Given the description of an element on the screen output the (x, y) to click on. 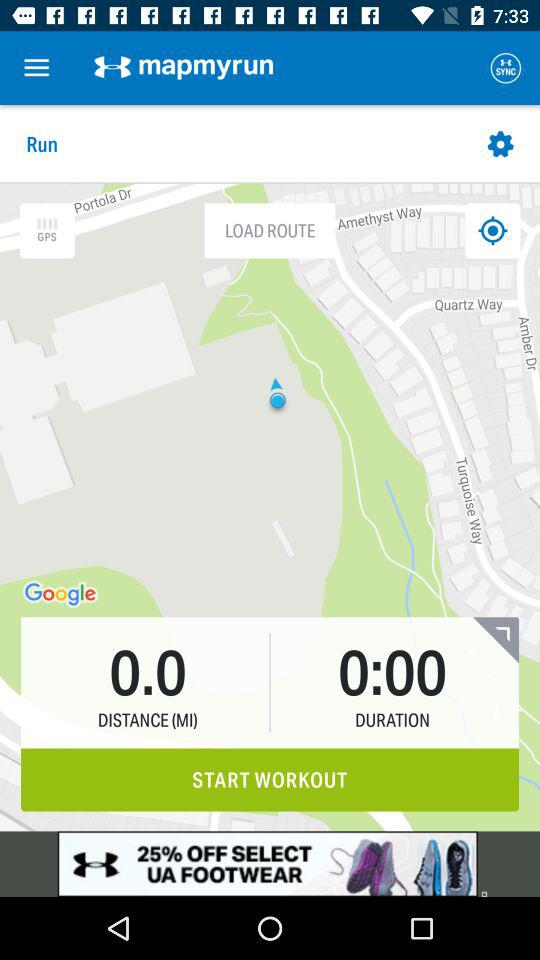
advertisement (270, 864)
